Given the description of an element on the screen output the (x, y) to click on. 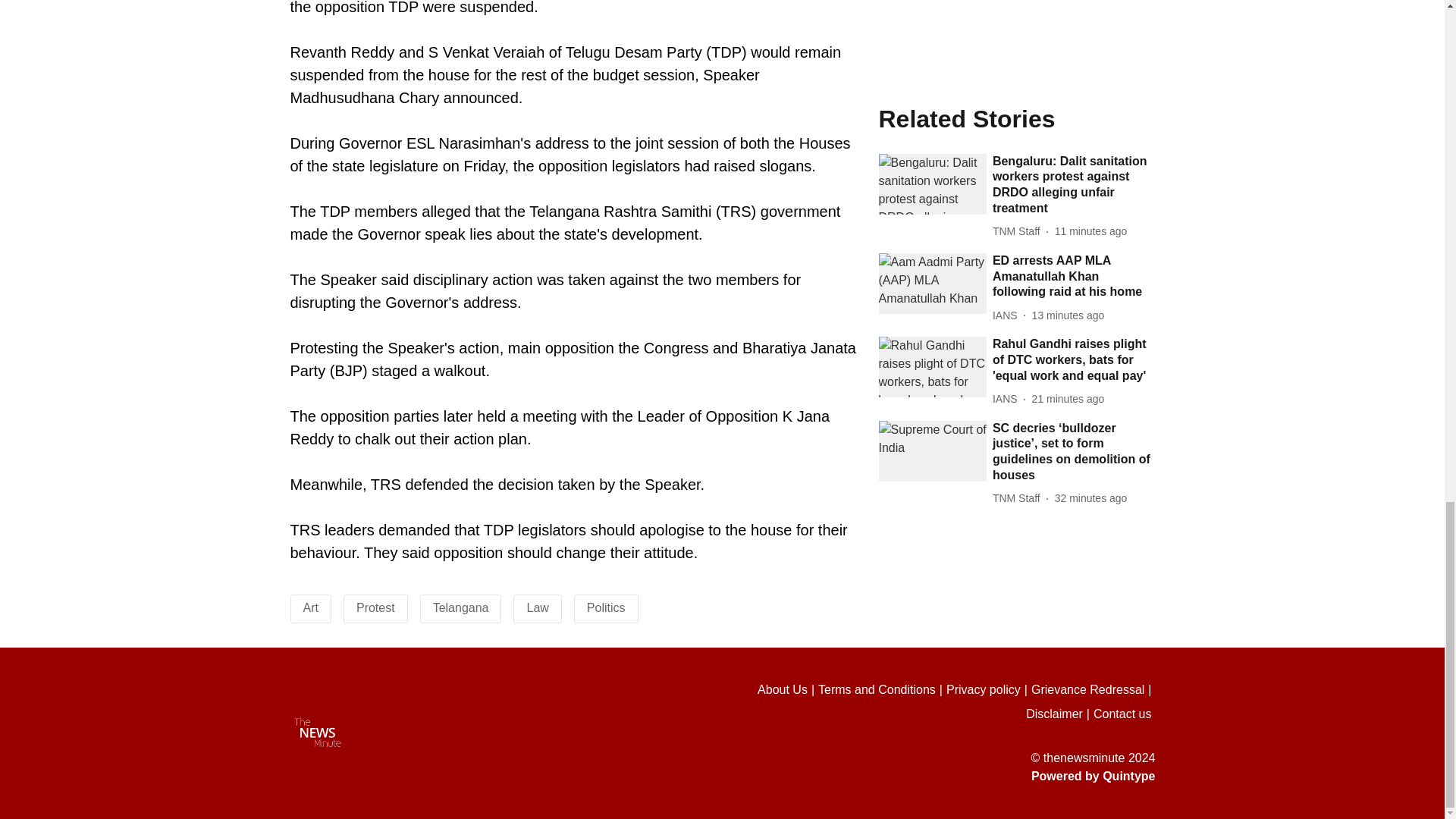
Politics (606, 607)
Law (536, 607)
Protest (375, 607)
Art (310, 607)
Telangana (460, 607)
